Given the description of an element on the screen output the (x, y) to click on. 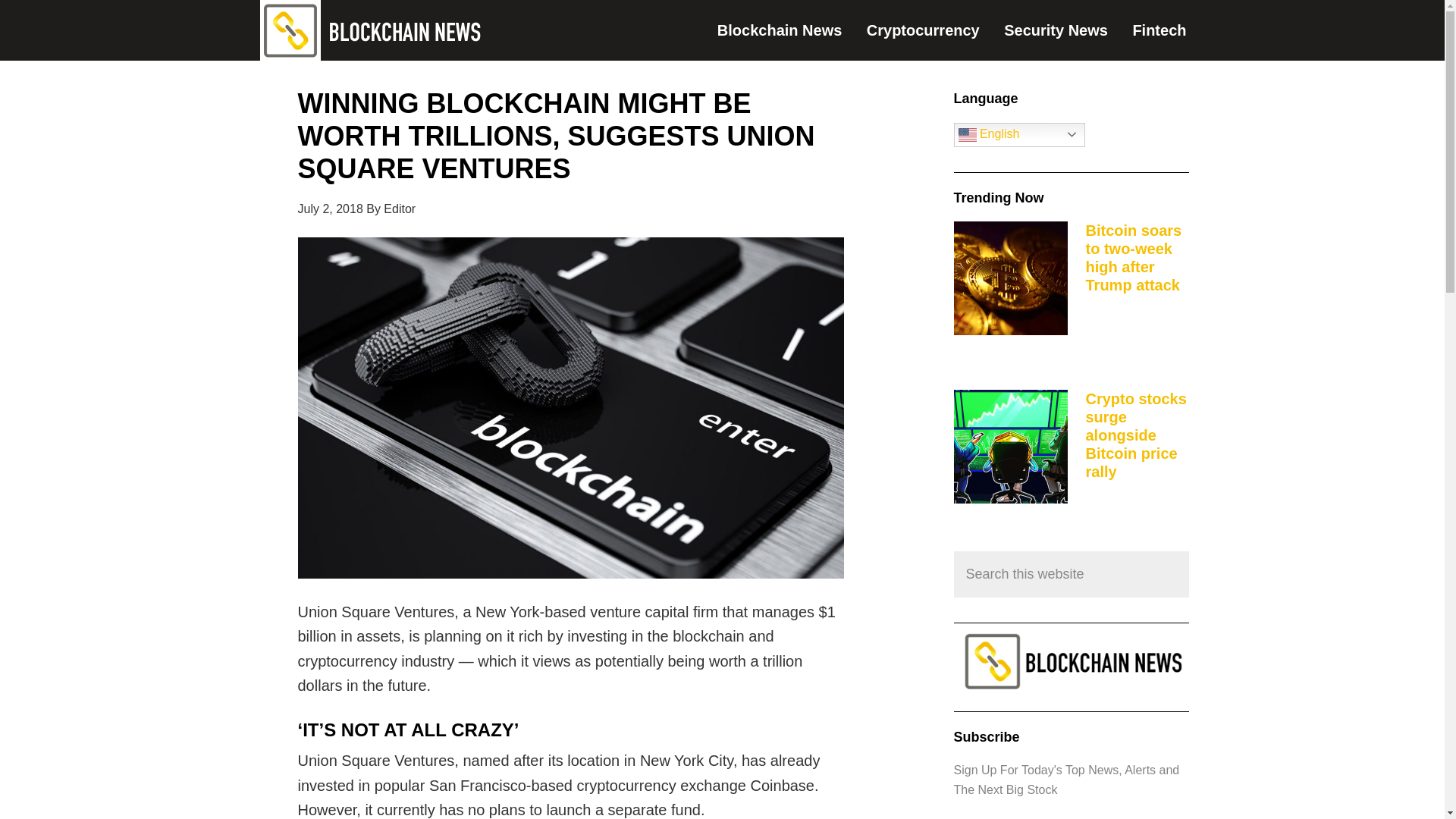
Crypto stocks surge alongside Bitcoin price rally (1136, 434)
Fintech (1169, 30)
Cryptocurrency (933, 30)
Blockchain News Group (372, 30)
Security News (1066, 30)
English (1018, 134)
Bitcoin soars to two-week high after Trump attack (1134, 257)
Blockchain News (790, 30)
